Given the description of an element on the screen output the (x, y) to click on. 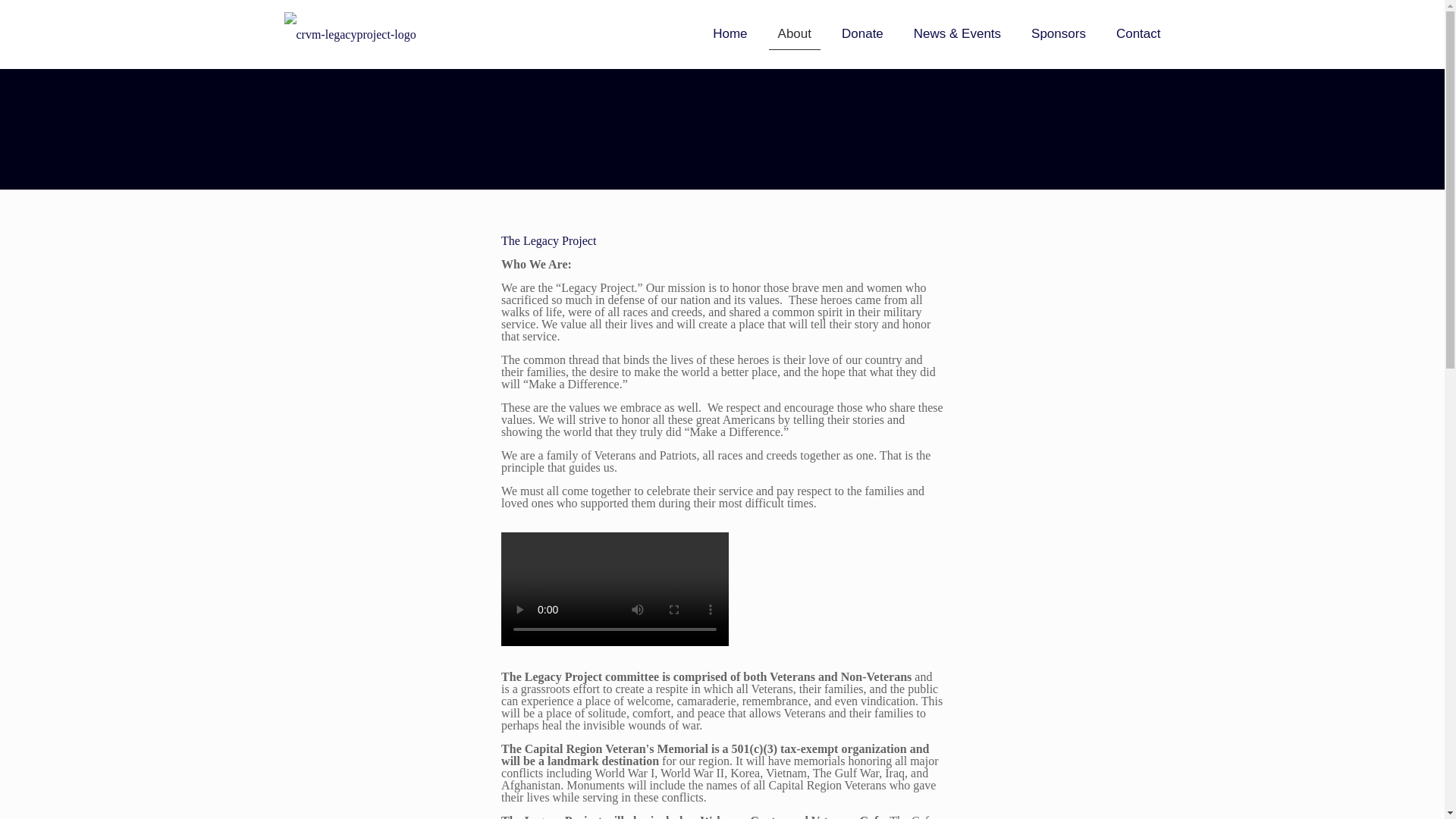
Donate (862, 33)
Home (729, 33)
Sponsors (1058, 33)
About (794, 33)
Contact (1138, 33)
Capital Region Veterans Memorial (348, 33)
